Given the description of an element on the screen output the (x, y) to click on. 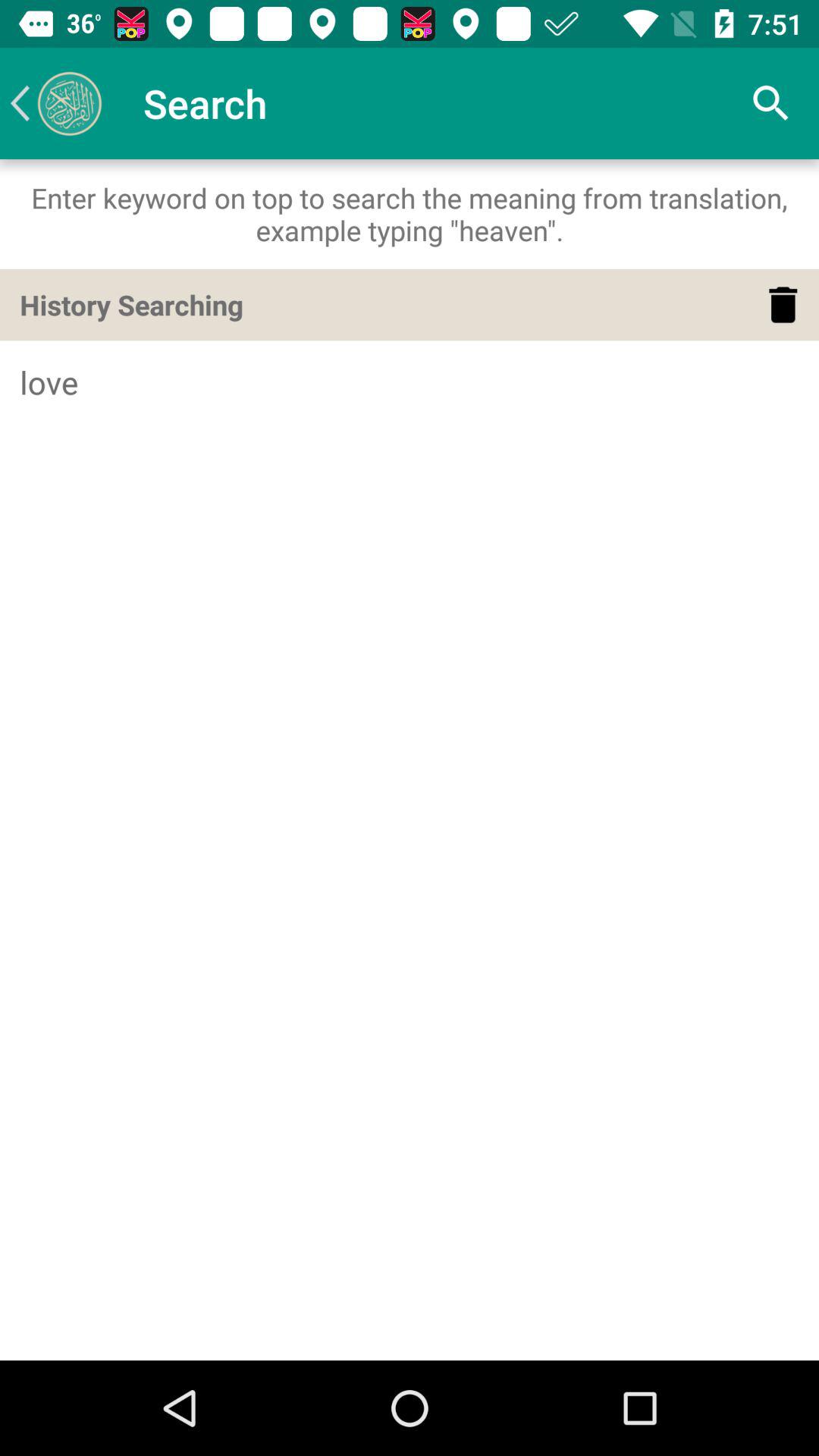
click love icon (409, 381)
